Given the description of an element on the screen output the (x, y) to click on. 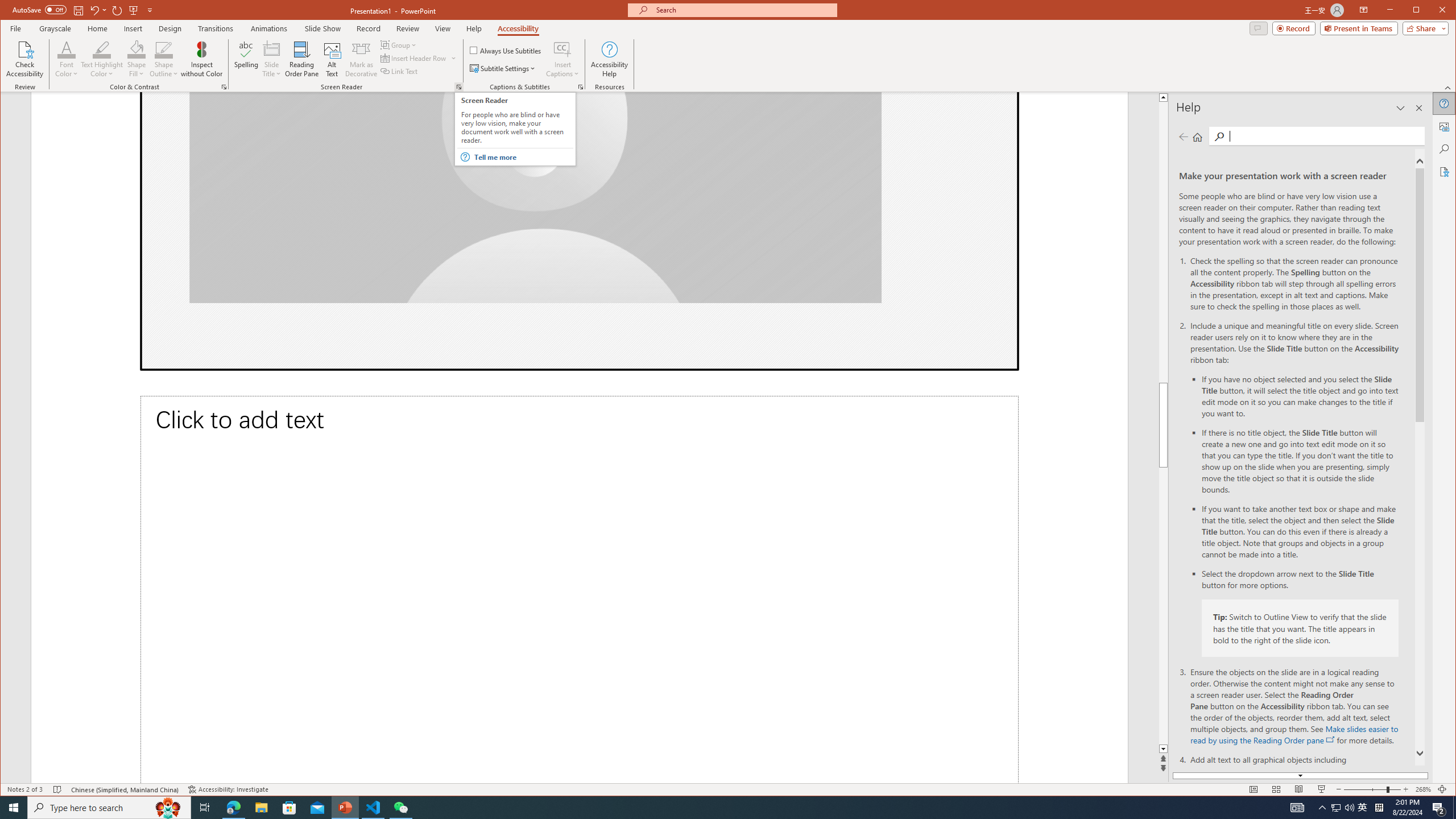
Reading Order Pane (301, 59)
Alt Text (1444, 125)
Grayscale (55, 28)
Tray Input Indicator - Chinese (Simplified, China) (1378, 807)
openinnewwindow (1330, 739)
Always Use Subtitles (505, 49)
PowerPoint - 1 running window (345, 807)
Insert Captions (562, 48)
